Given the description of an element on the screen output the (x, y) to click on. 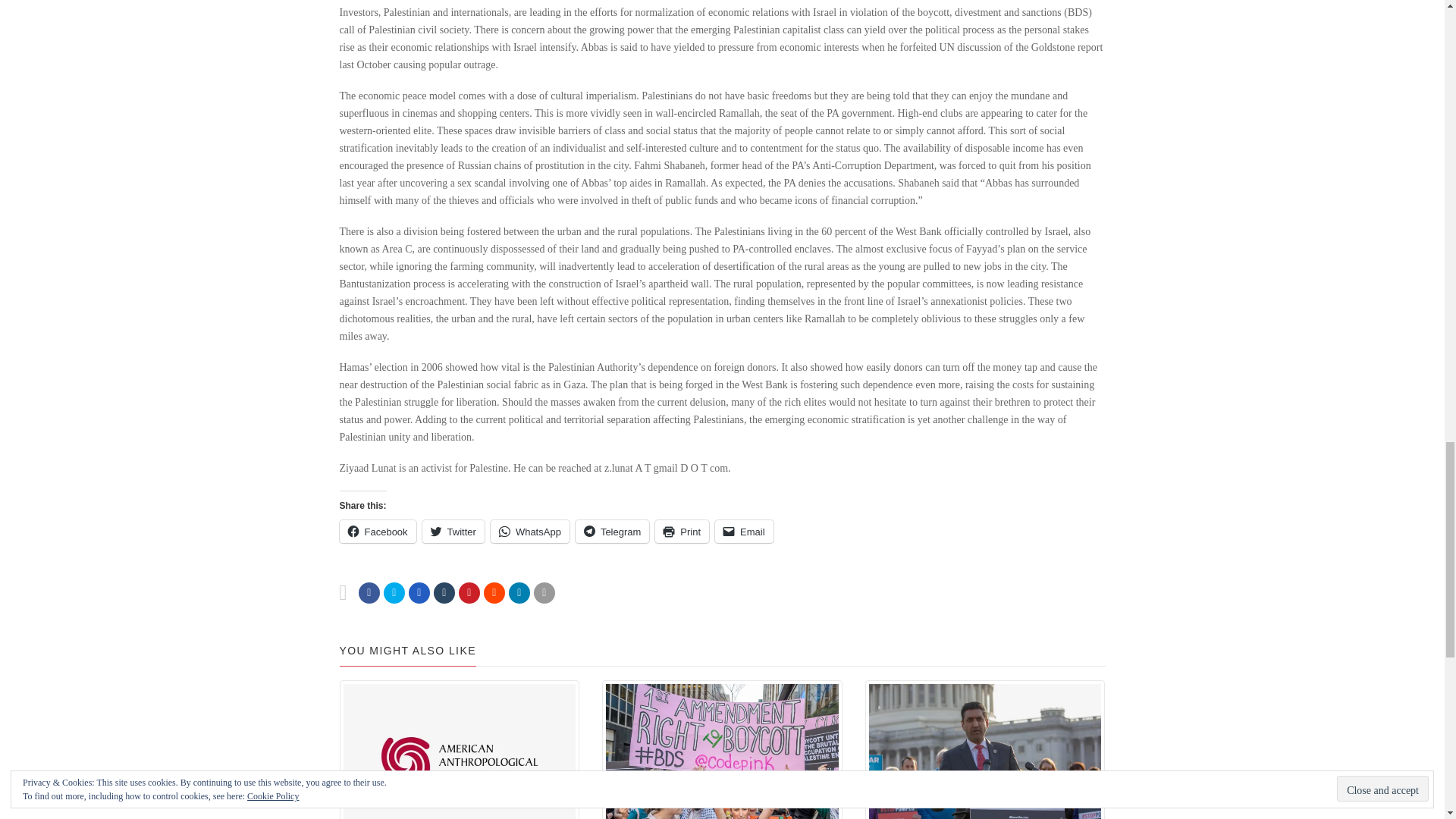
Submit to Reddit (494, 592)
Post to Tumblr (443, 592)
Click to share on Twitter (453, 531)
Click to email a link to a friend (743, 531)
Click to print (682, 531)
Pin it (469, 592)
Click to share on Facebook (377, 531)
Tweet (394, 592)
Click to share on WhatsApp (529, 531)
Click to share on Telegram (612, 531)
Share on Facebook (369, 592)
